Given the description of an element on the screen output the (x, y) to click on. 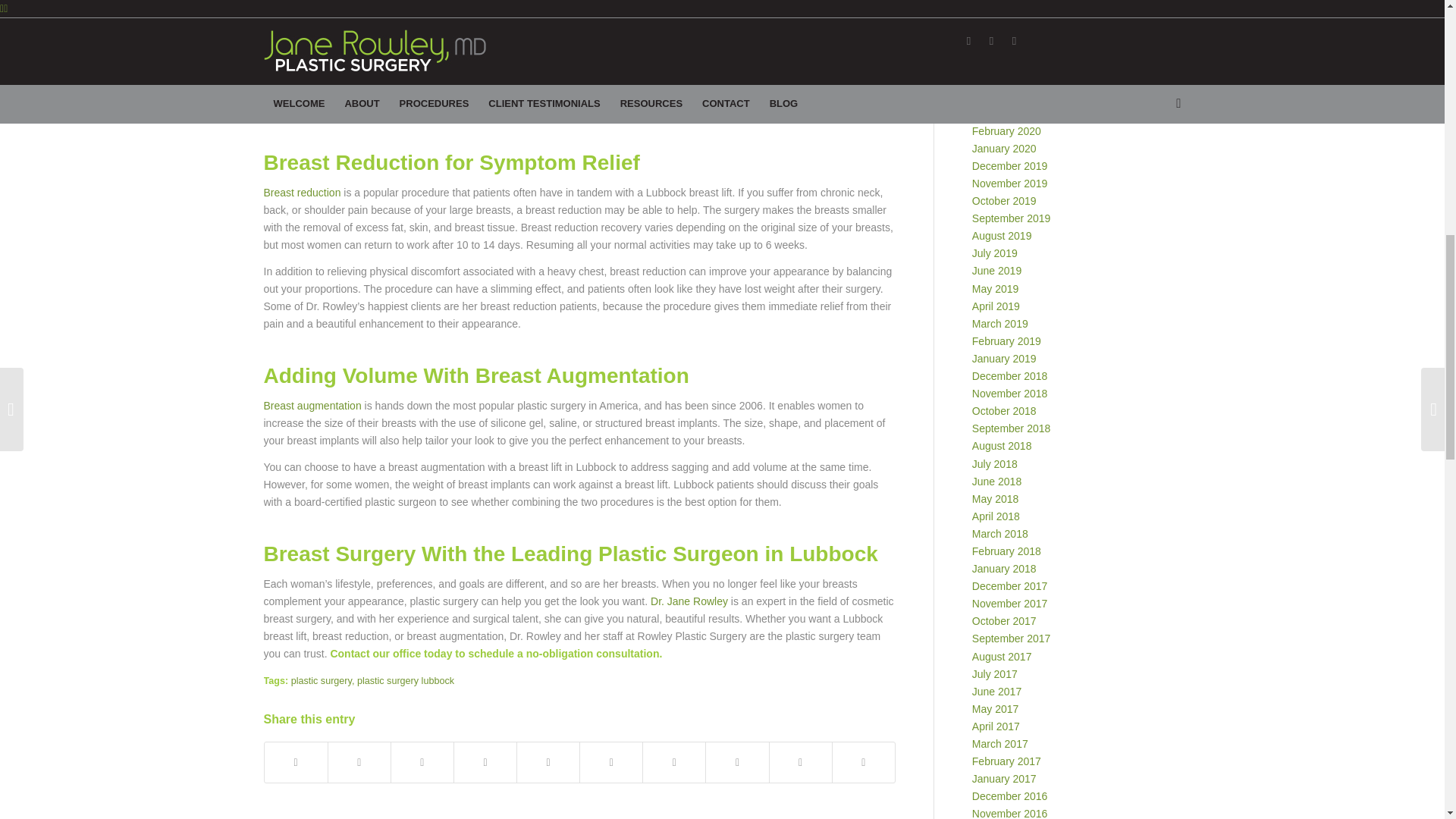
Dr. Jane Rowley (689, 601)
Contact our office (375, 653)
Breast augmentation (312, 405)
plastic surgery (321, 680)
plastic surgery lubbock (405, 680)
Breast reduction (301, 192)
